Given the description of an element on the screen output the (x, y) to click on. 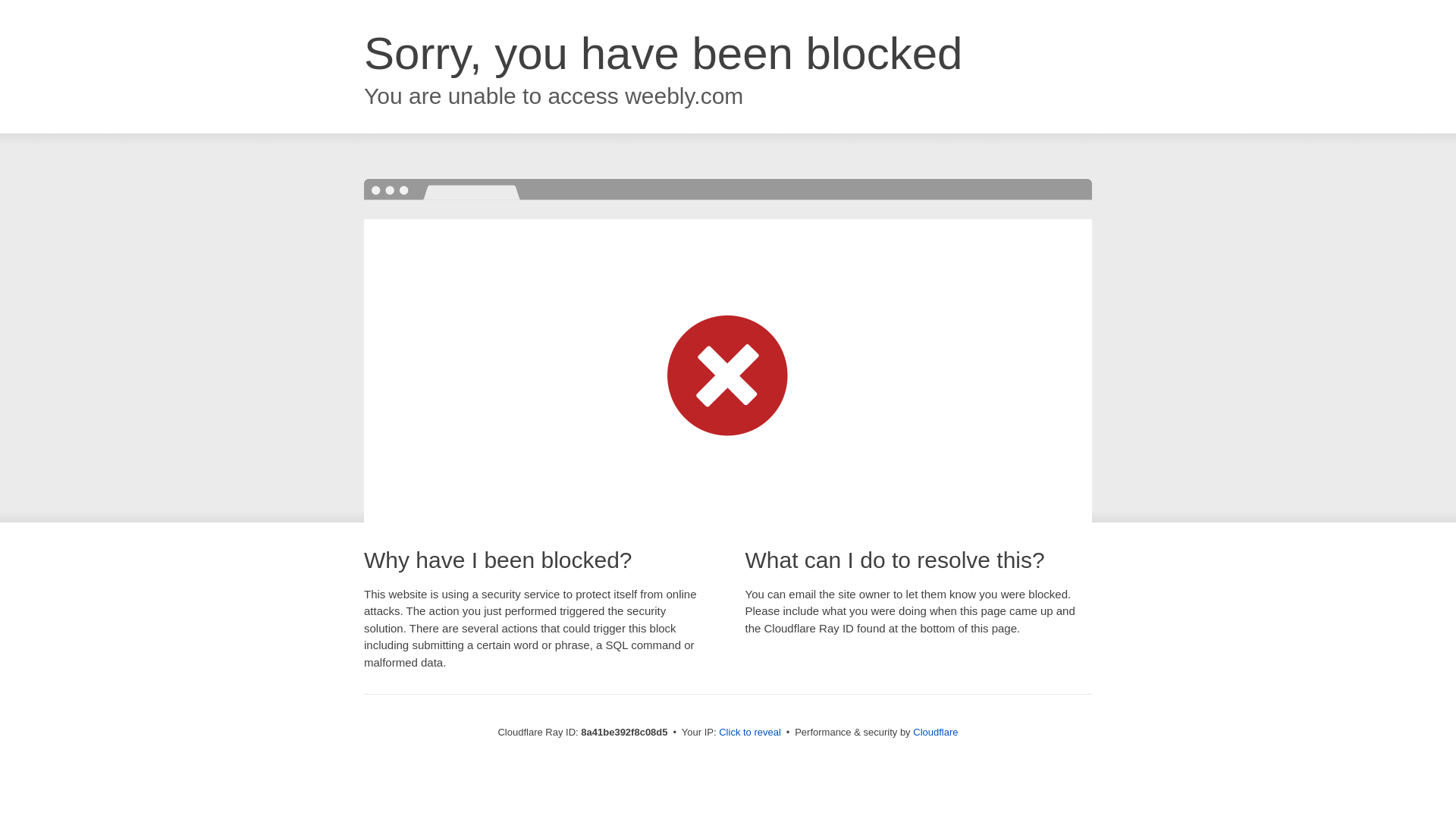
Cloudflare (935, 731)
Click to reveal (749, 732)
